Given the description of an element on the screen output the (x, y) to click on. 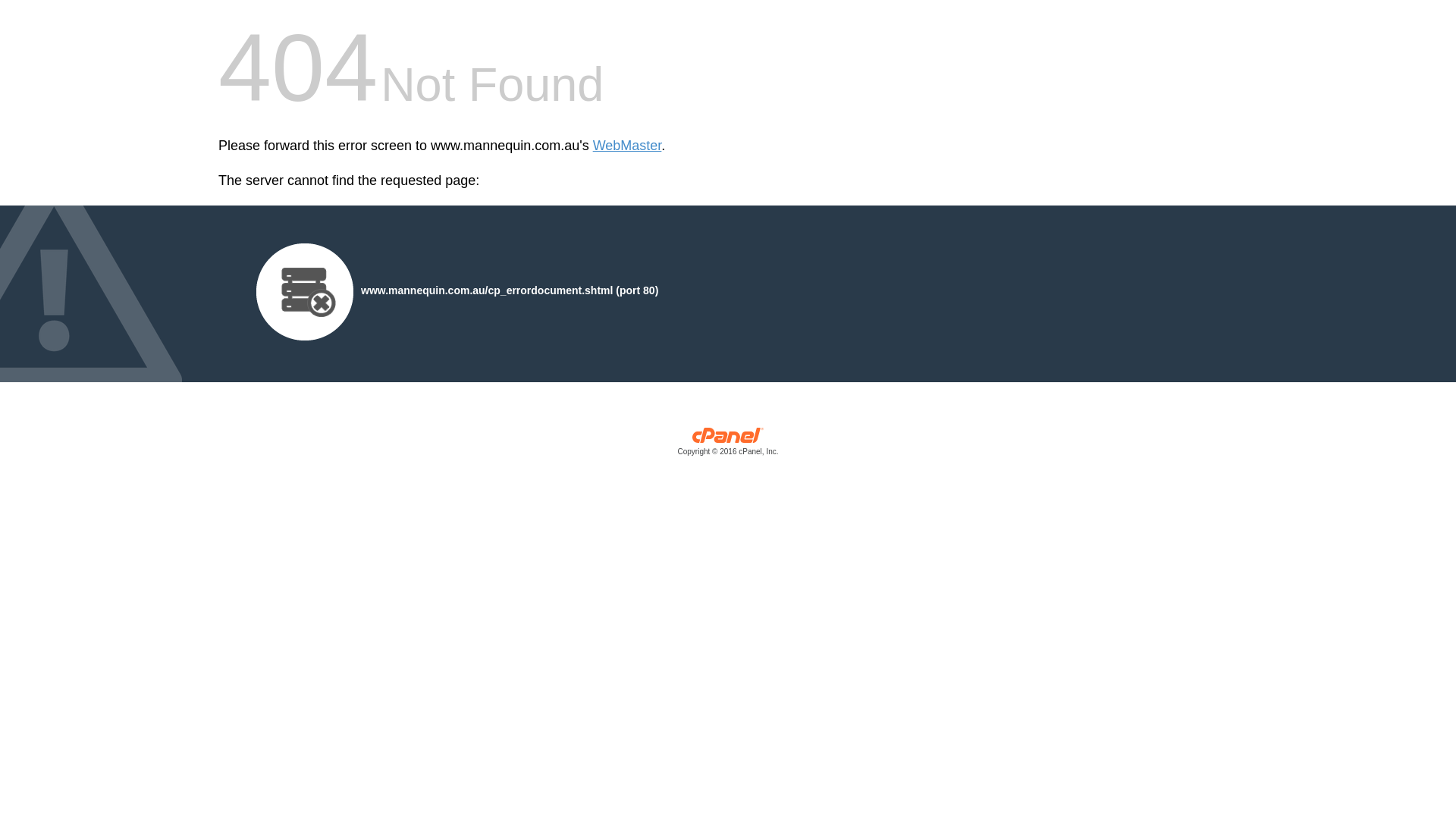
WebMaster Element type: text (627, 145)
